Given the description of an element on the screen output the (x, y) to click on. 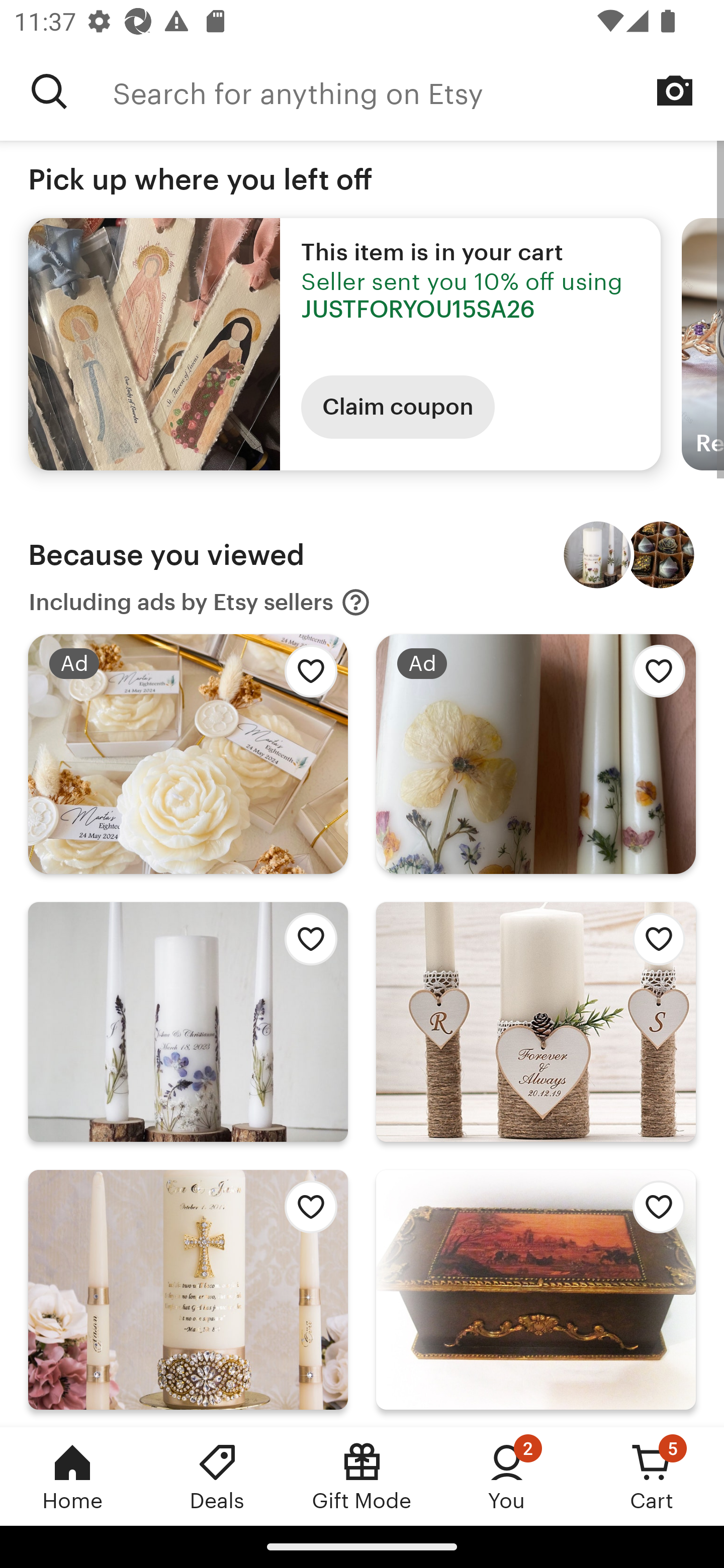
Search for anything on Etsy (49, 91)
Search by image (674, 90)
Search for anything on Etsy (418, 91)
Claim coupon (397, 407)
Custom Large Chocolate Box (660, 554)
Including ads by Etsy sellers (199, 601)
Deals (216, 1475)
Gift Mode (361, 1475)
You, 2 new notifications You (506, 1475)
Cart, 5 new notifications Cart (651, 1475)
